Given the description of an element on the screen output the (x, y) to click on. 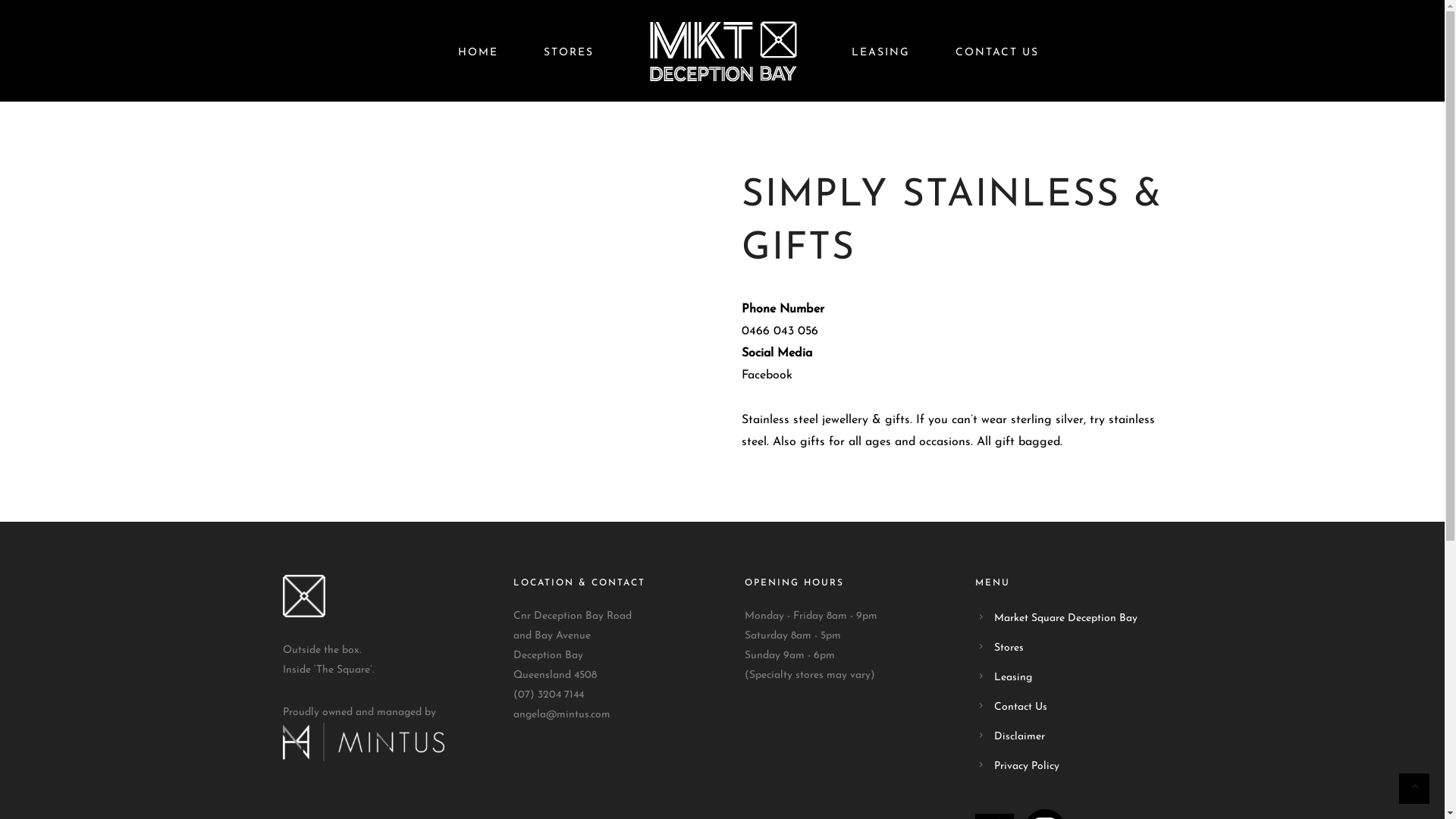
STORES Element type: text (567, 53)
HOME Element type: text (477, 53)
angela@mintus.com Element type: text (561, 714)
Stores Element type: text (1008, 648)
LEASING Element type: text (879, 53)
0466 043 056 Element type: text (779, 331)
CONTACT US Element type: text (996, 53)
Privacy Policy Element type: text (1026, 766)
Disclaimer Element type: text (1019, 736)
Facebook Element type: text (766, 374)
Contact Us Element type: text (1020, 707)
Leasing Element type: text (1013, 677)
Market Square Deception Bay Element type: text (1065, 618)
